Given the description of an element on the screen output the (x, y) to click on. 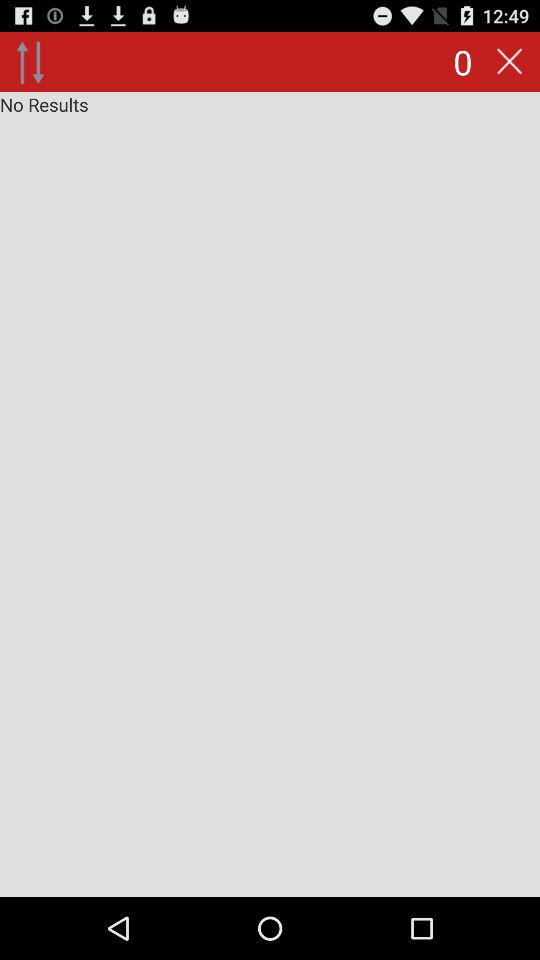
press icon next to 0 icon (30, 61)
